Given the description of an element on the screen output the (x, y) to click on. 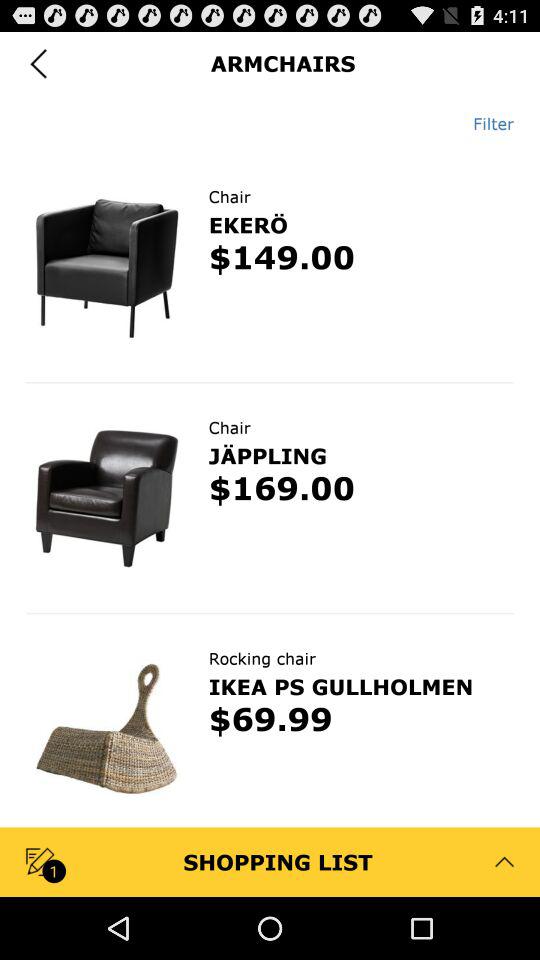
tap the icon below the filter icon (270, 152)
